Given the description of an element on the screen output the (x, y) to click on. 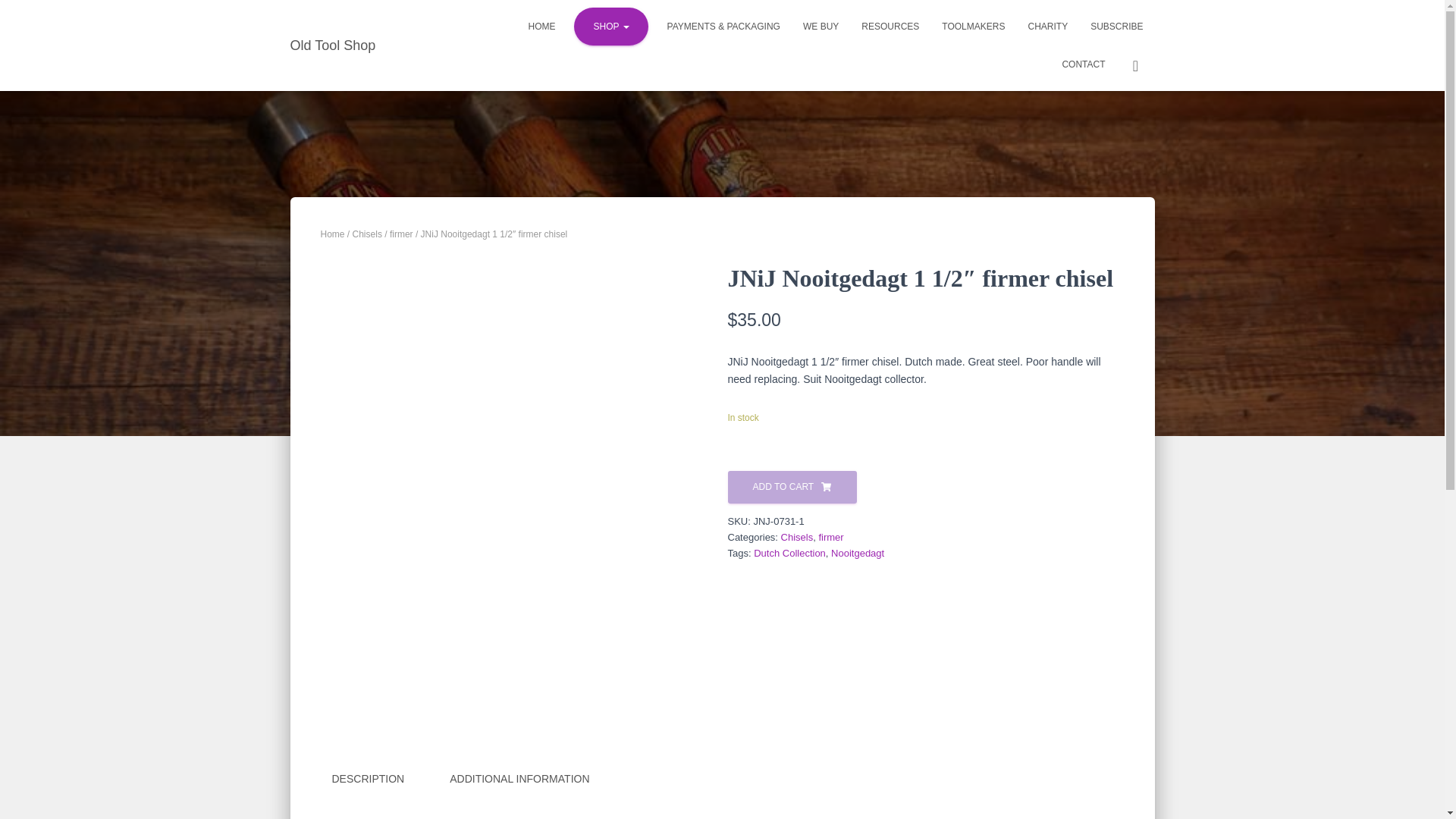
ADD TO CART (792, 486)
firmer (401, 234)
Home (541, 26)
CONTACT (1082, 64)
Old Tool Shop (333, 45)
ADDITIONAL INFORMATION (518, 779)
RESOURCES (890, 26)
Home (331, 234)
Old Tool Shop (333, 45)
HOME (541, 26)
Chisels (366, 234)
Shop (610, 26)
Nooitgedagt (857, 552)
WE BUY (821, 26)
Chisels (796, 536)
